Given the description of an element on the screen output the (x, y) to click on. 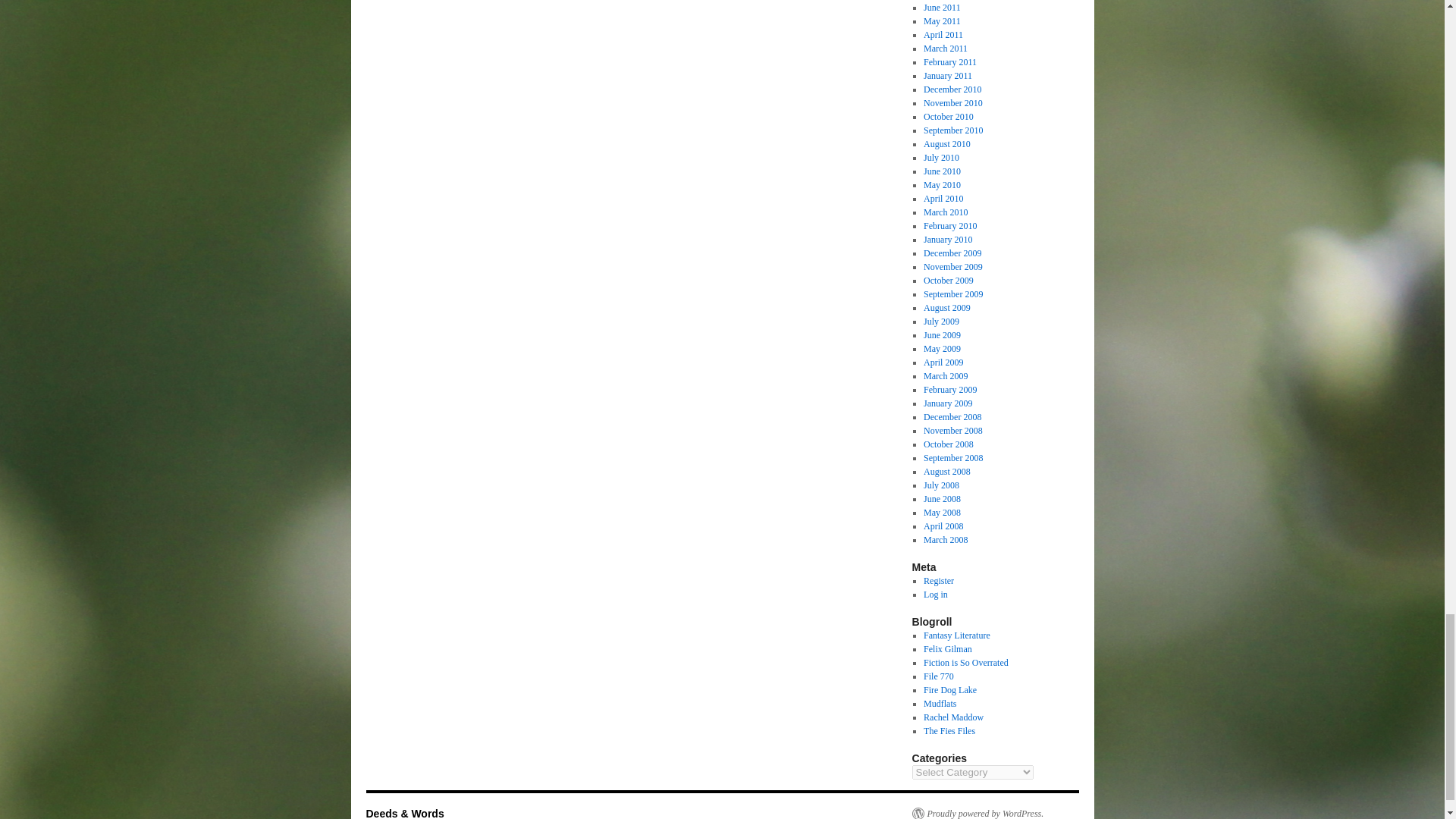
Dry wit (947, 648)
Interesting tidbits from an award winning cartoonist (949, 730)
Good book reviews (966, 662)
Smart (953, 716)
Best Alaskan Entertainment Since Dana Stabenow (939, 703)
